Given the description of an element on the screen output the (x, y) to click on. 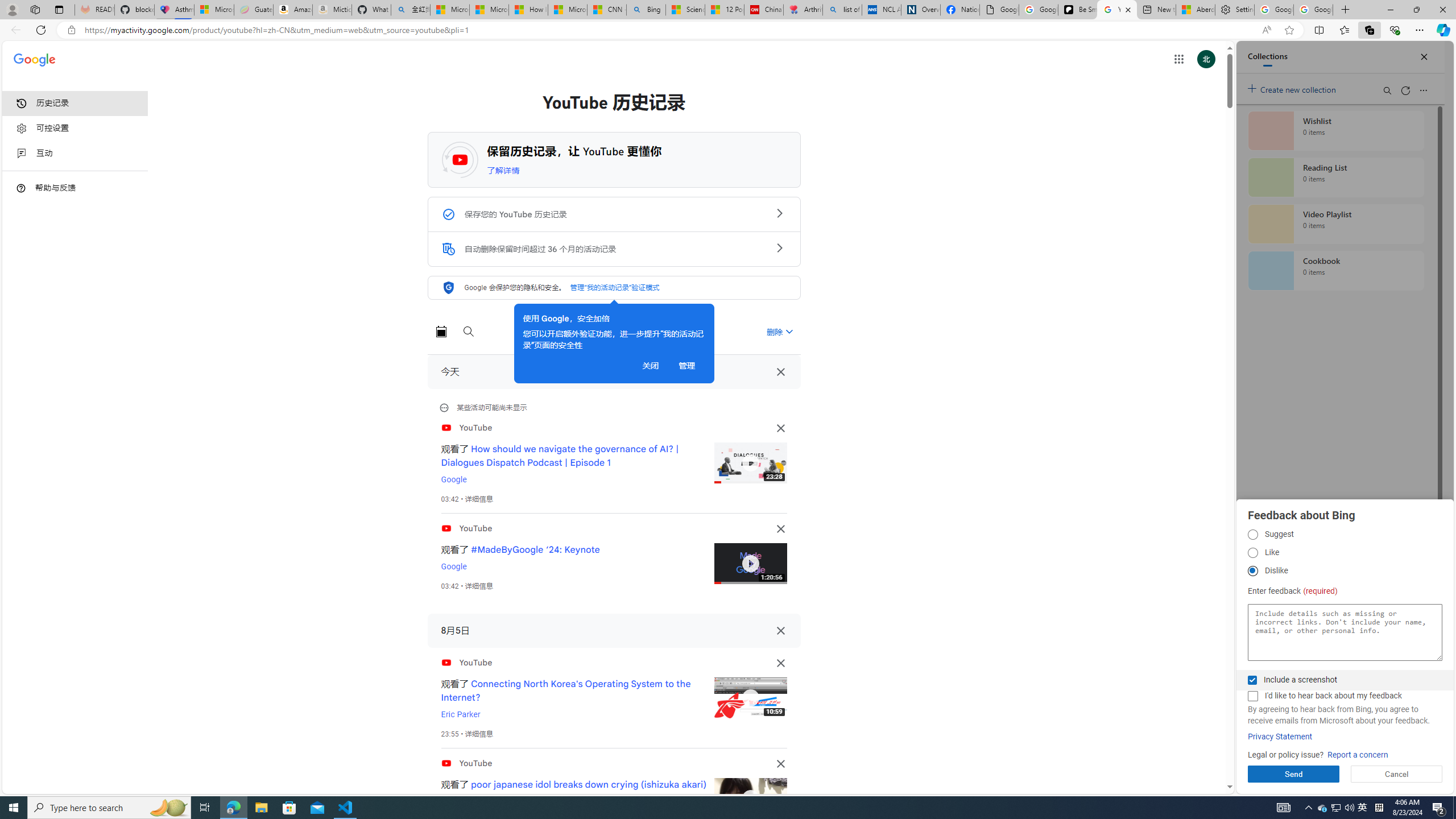
Class: IVR0f NMm5M (750, 798)
Suggest Suggest (1252, 534)
